Given the description of an element on the screen output the (x, y) to click on. 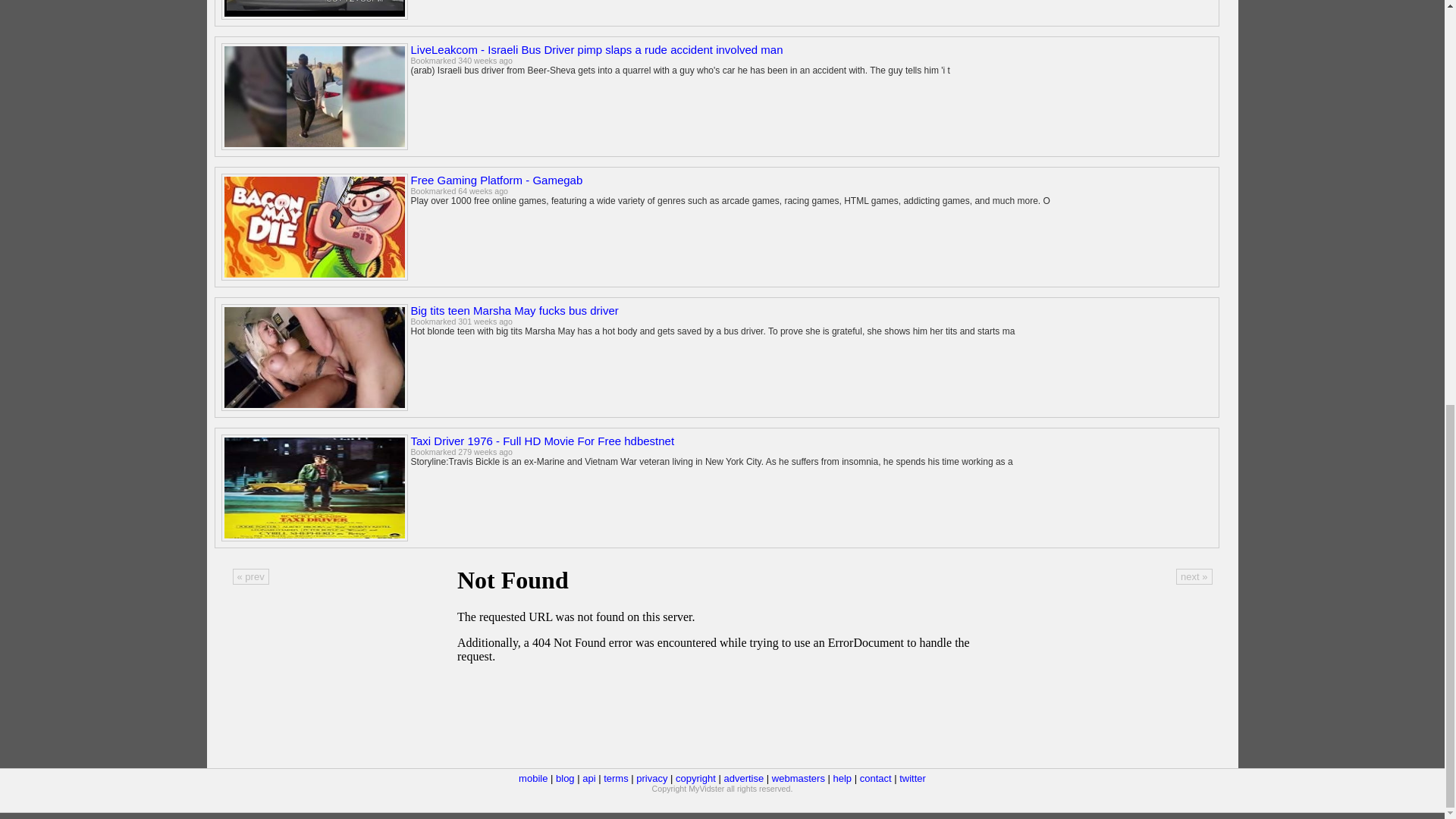
terms (616, 778)
blog (565, 778)
privacy (651, 778)
webmasters (798, 778)
Big tits teen Marsha May fucks bus driver (514, 309)
twitter (912, 778)
advertise (742, 778)
Taxi Driver 1976 - Full HD Movie For Free hdbestnet (542, 440)
api (588, 778)
